Given the description of an element on the screen output the (x, y) to click on. 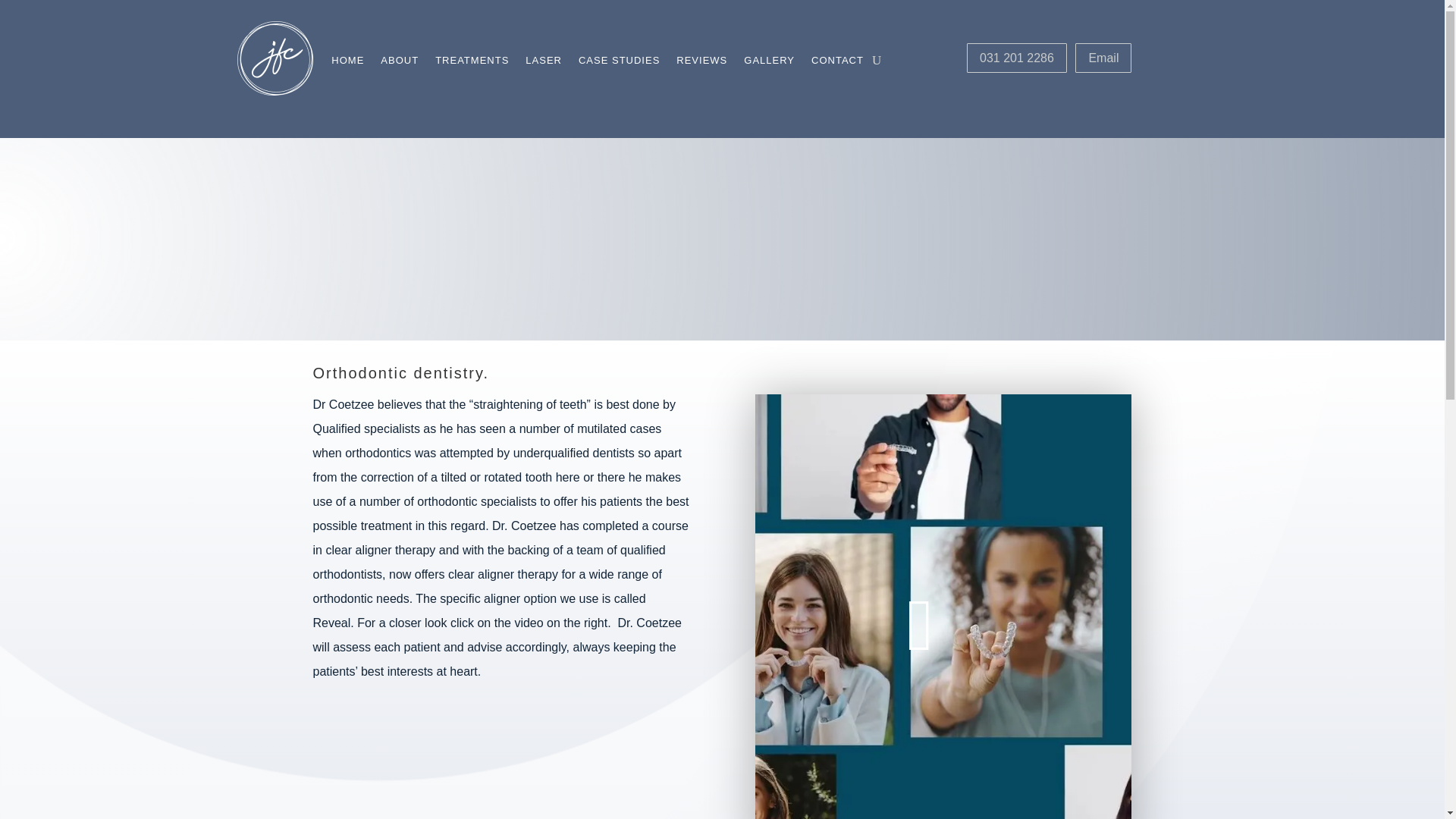
ABOUT (399, 63)
LASER (543, 63)
HOME (347, 63)
031 201 2286 (1016, 57)
Email (1103, 57)
CASE STUDIES (618, 63)
CONTACT (836, 63)
CIRCLE100 (274, 58)
REVIEWS (701, 63)
TREATMENTS (471, 63)
